Given the description of an element on the screen output the (x, y) to click on. 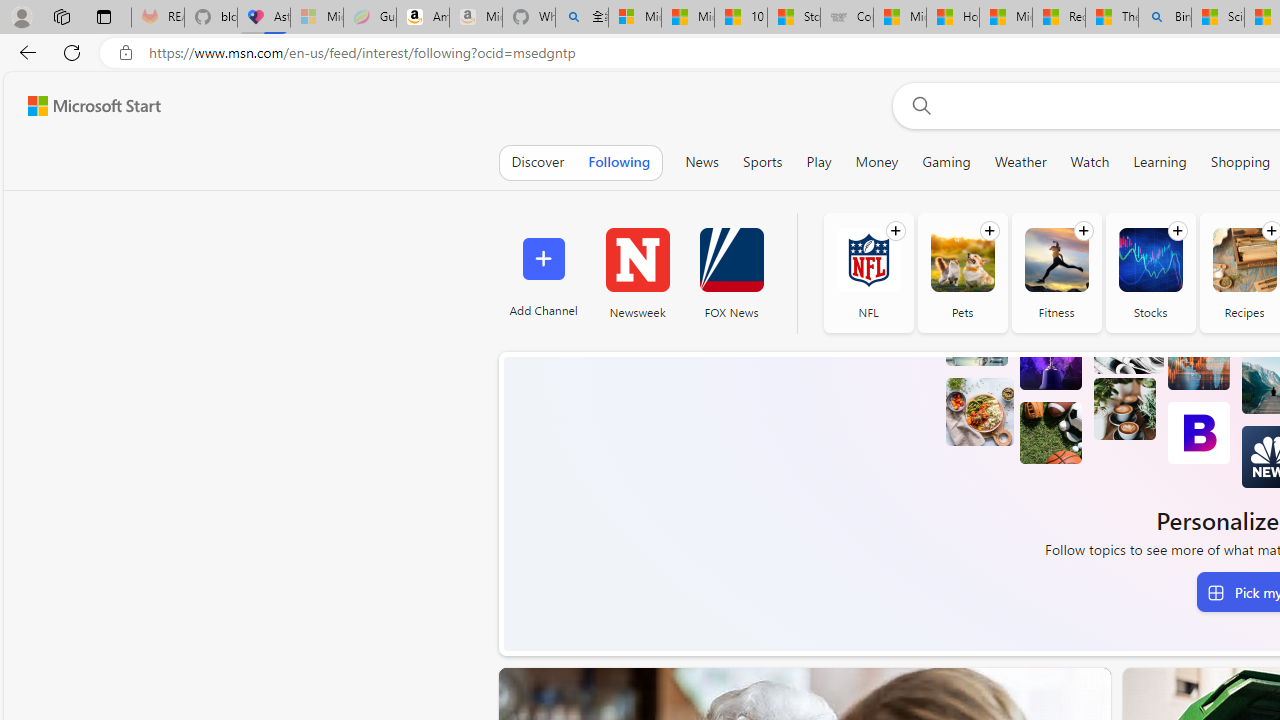
NFL (868, 260)
Sports (762, 161)
Gaming (946, 161)
Fitness (1056, 260)
Hide this story (1050, 691)
Learning (1160, 161)
Newsweek (637, 272)
Play (818, 162)
